Given the description of an element on the screen output the (x, y) to click on. 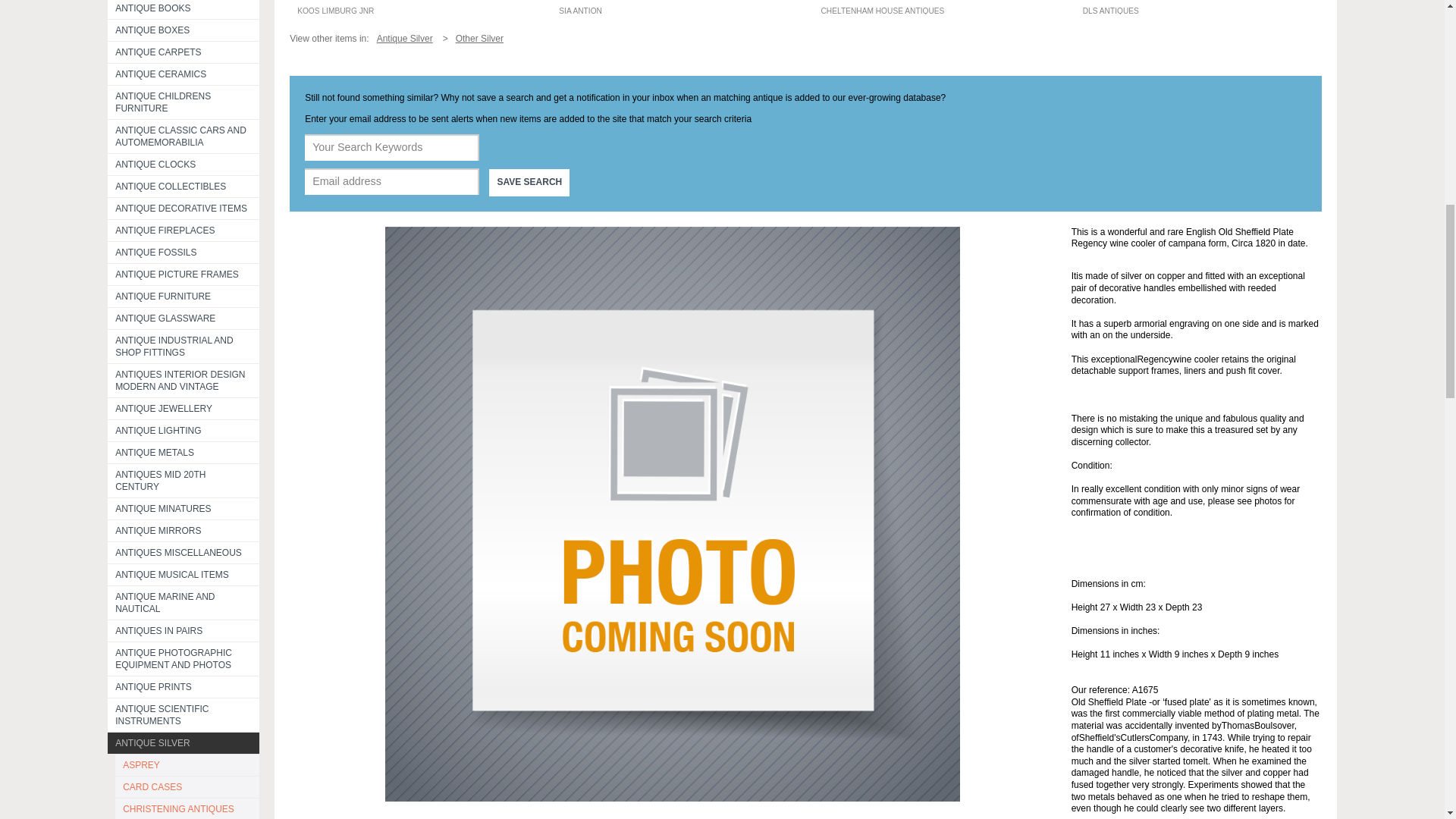
ANTIQUE BOOKS (183, 9)
ANTIQUE CERAMICS (183, 74)
ANTIQUE CHILDRENS FURNITURE (183, 101)
ANTIQUE BOXES (183, 29)
ANTIQUE CARPETS (183, 51)
